Given the description of an element on the screen output the (x, y) to click on. 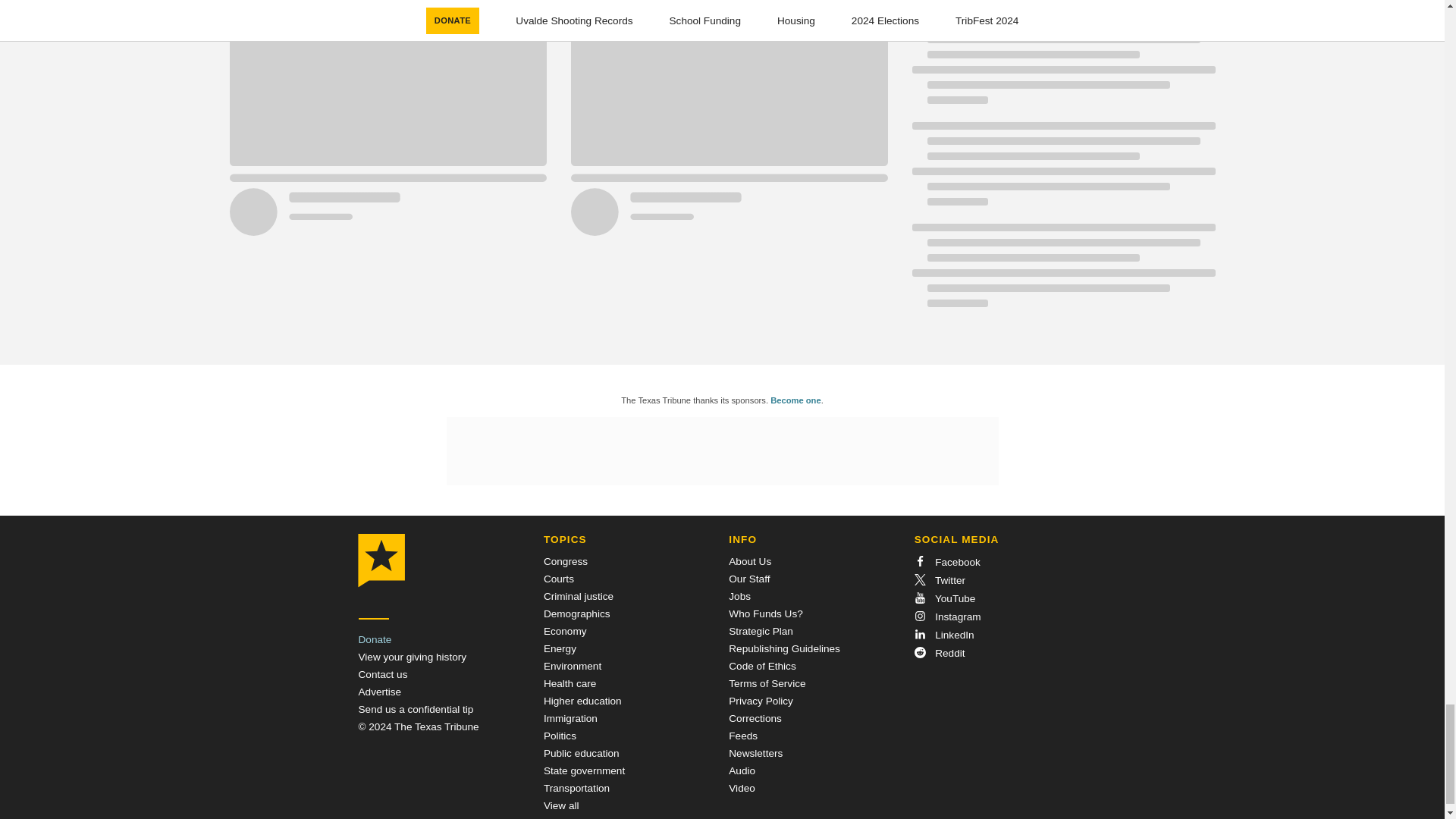
Terms of Service (767, 683)
Advertise (379, 691)
View your giving history (411, 656)
Republishing Guidelines (784, 648)
Facebook (946, 562)
Send a Tip (415, 708)
Newsletters (756, 753)
Video (742, 787)
Code of Ethics (761, 665)
About Us (750, 561)
